Given the description of an element on the screen output the (x, y) to click on. 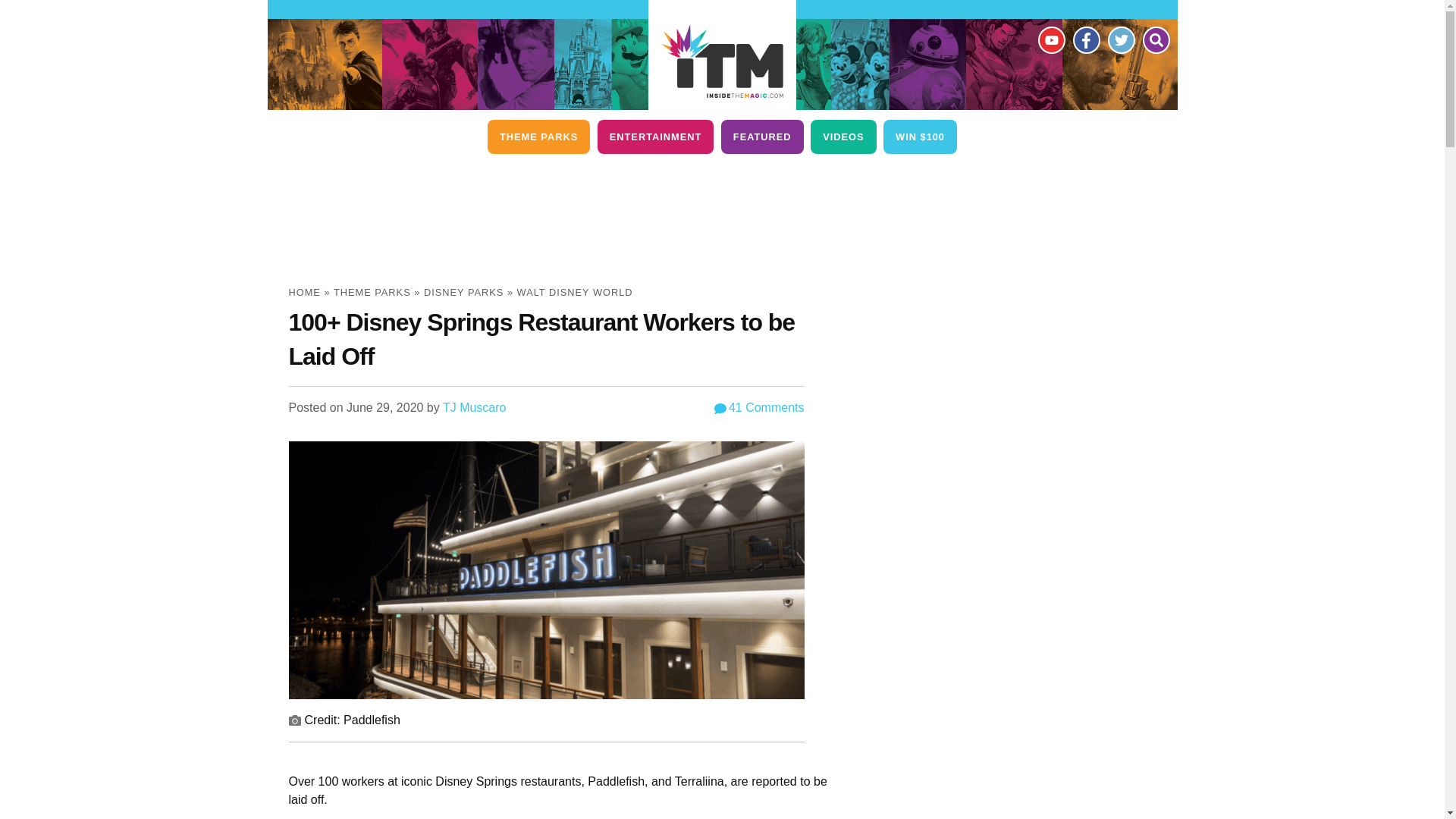
ENTERTAINMENT (655, 136)
Facebook (1085, 40)
YouTube (1050, 40)
FEATURED (761, 136)
Twitter (1120, 40)
THEME PARKS (538, 136)
Search (1155, 40)
